Given the description of an element on the screen output the (x, y) to click on. 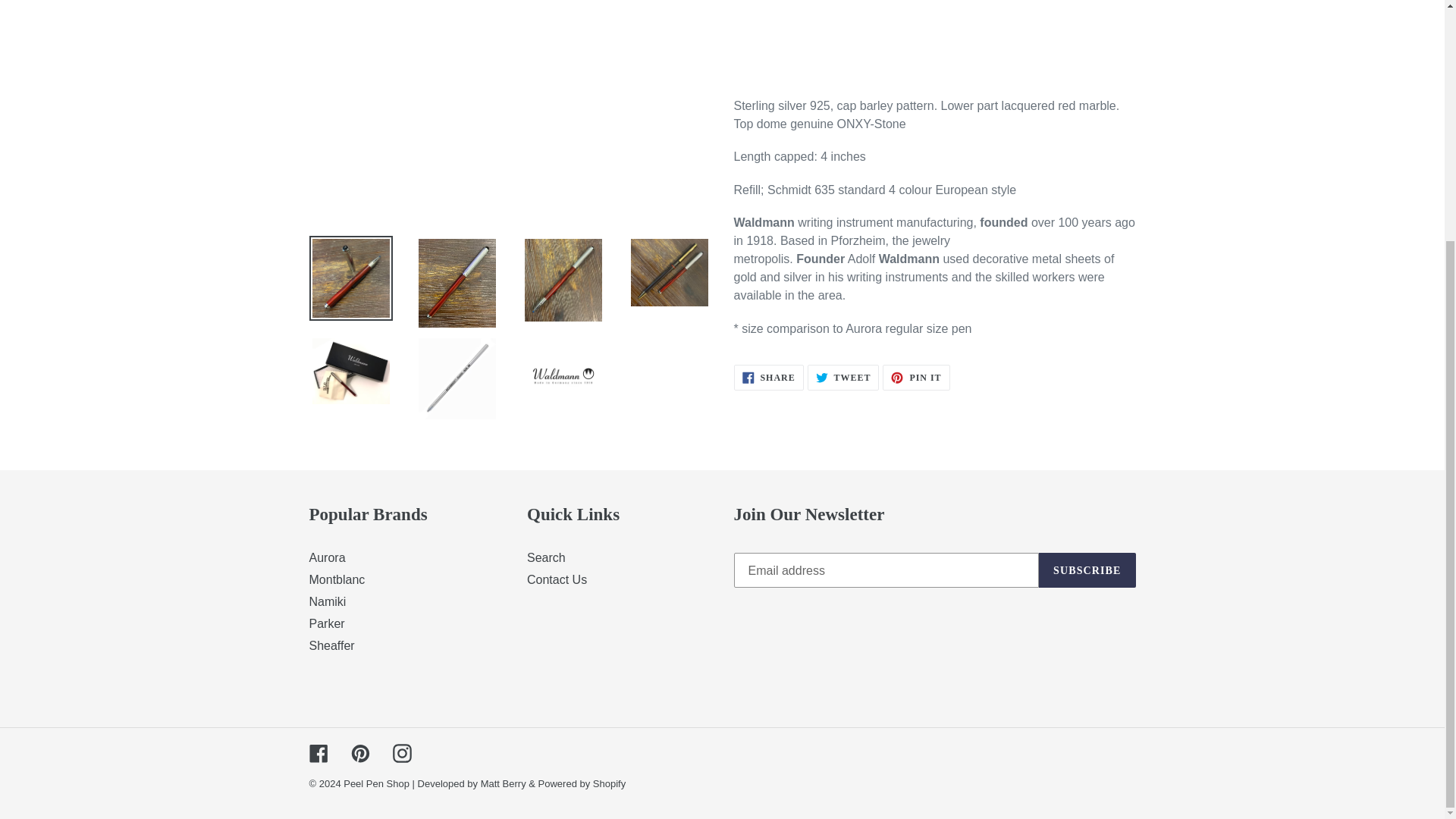
Montblanc (336, 579)
Parker (326, 623)
Contact Us (556, 579)
Aurora (327, 557)
Sheaffer (768, 377)
Namiki (331, 645)
Search (843, 377)
